Given the description of an element on the screen output the (x, y) to click on. 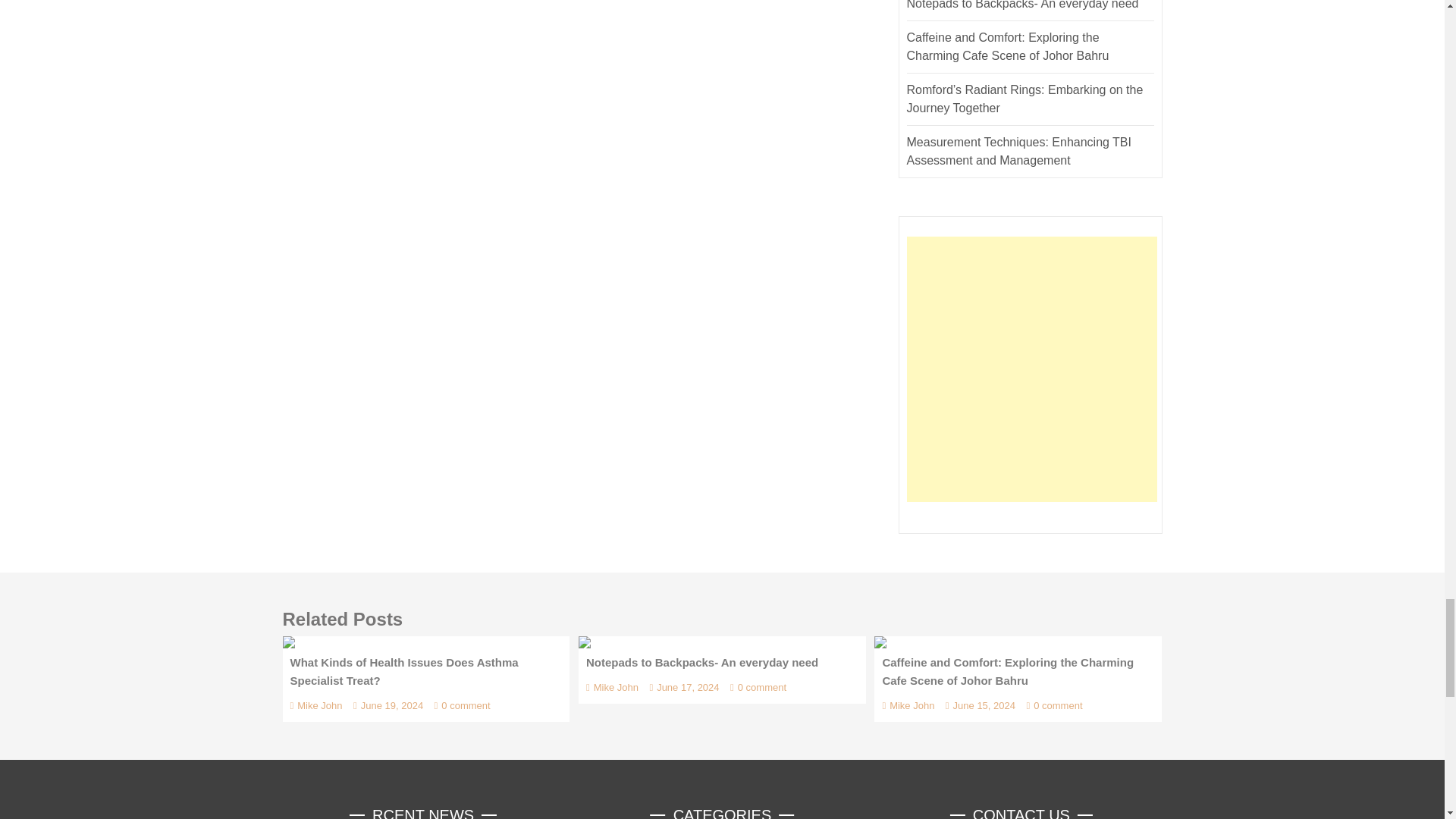
Notepads to Backpacks- An everyday need (584, 642)
What Kinds of Health Issues Does Asthma Specialist Treat? (288, 642)
